Given the description of an element on the screen output the (x, y) to click on. 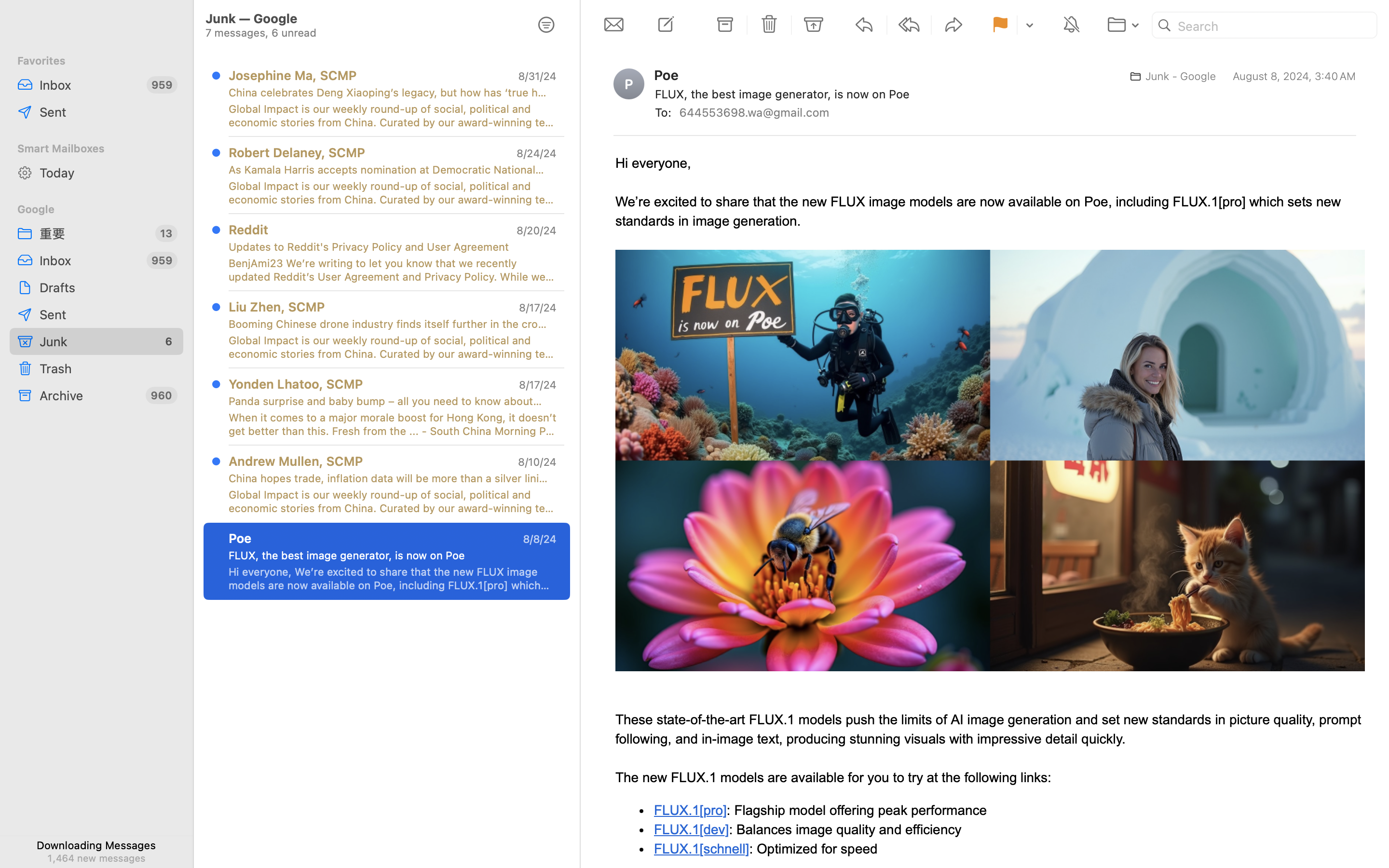
Updates to Reddit's Privacy Policy and User Agreement Element type: AXStaticText (388, 246)
Global Impact is our weekly round-up of social, political and economic stories from China. Curated by our award-winning team of ... - South China Morning Post, SCMP, Global Impact - Global Impact is our weekly round-up of social, political and economic stories from China. Curated by our award-winning team of ... This newsletter is now only available to our digital subscribers. Subscribe to a 1-year plan with a 25% discount for the first year to continue to receive this newsletter along with unlimited access to SCMP.com. Was this newsletter forwarded to you? Sign up here China politics & diplomacy China expands export controls on drones, parts with potential for military use Andrew Mullen Deputy Editor, Political Economy 17 August 2024 Global Impact is our weekly round-up of social, political and economic stories from China. Curated by our award-winning team of journalists, this must-read newsletter explores the impact and significance of those stories around the globe. Since July 2023, Element type: AXStaticText (392, 346)
Hi everyone, Element type: AXStaticText (653, 162)
As Kamala Harris accepts nomination at Democratic National Convention, how large is the ‘China factor’ for the US presidential election? Element type: AXStaticText (388, 169)
Trash Element type: AXStaticText (107, 368)
